Given the description of an element on the screen output the (x, y) to click on. 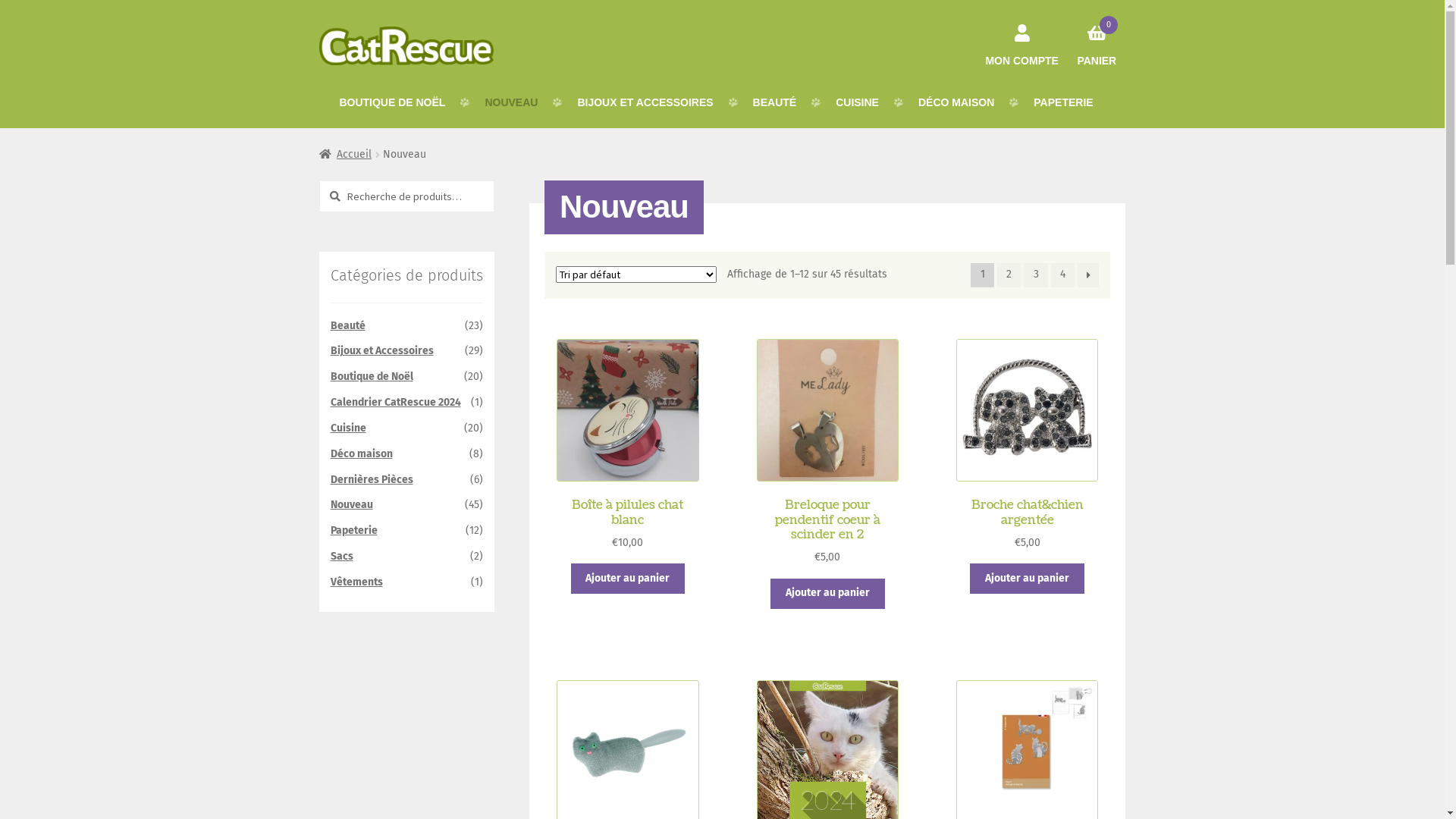
PAPETERIE Element type: text (1062, 102)
Recherche Element type: text (318, 179)
0 Element type: text (1096, 20)
BIJOUX ET ACCESSOIRES Element type: text (644, 102)
Papeterie Element type: text (353, 530)
3 Element type: text (1035, 275)
NOUVEAU Element type: text (510, 102)
Sacs Element type: text (341, 555)
Ajouter au panier Element type: text (827, 593)
Cuisine Element type: text (348, 427)
PANIER Element type: text (1096, 38)
MON COMPTE Element type: text (1021, 38)
Ajouter au panier Element type: text (1026, 578)
4 Element type: text (1063, 275)
Accueil Element type: text (345, 153)
Calendrier CatRescue 2024 Element type: text (395, 401)
Nouveau Element type: text (351, 504)
Ajouter au panier Element type: text (628, 578)
2 Element type: text (1009, 275)
CUISINE Element type: text (857, 102)
Bijoux et Accessoires Element type: text (381, 350)
